Given the description of an element on the screen output the (x, y) to click on. 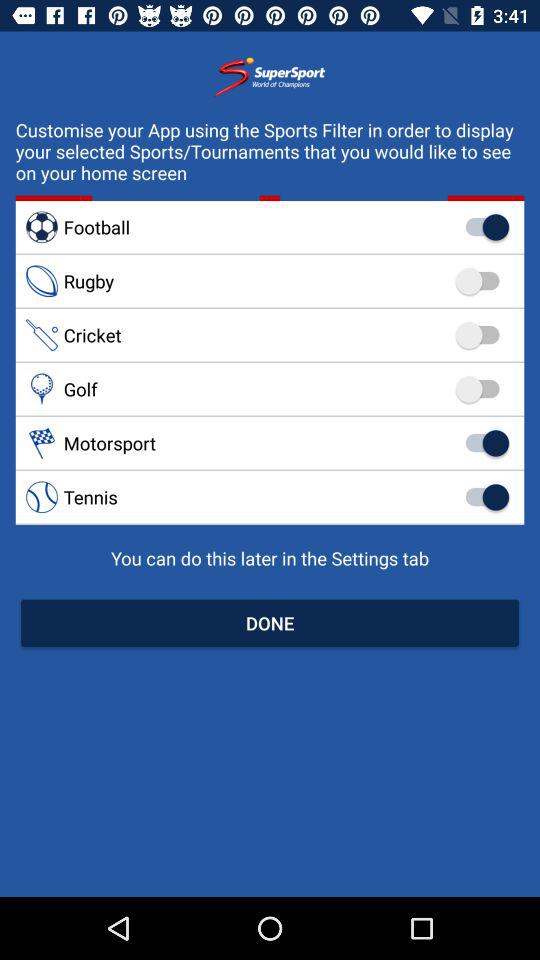
turn off the tennis item (269, 496)
